Given the description of an element on the screen output the (x, y) to click on. 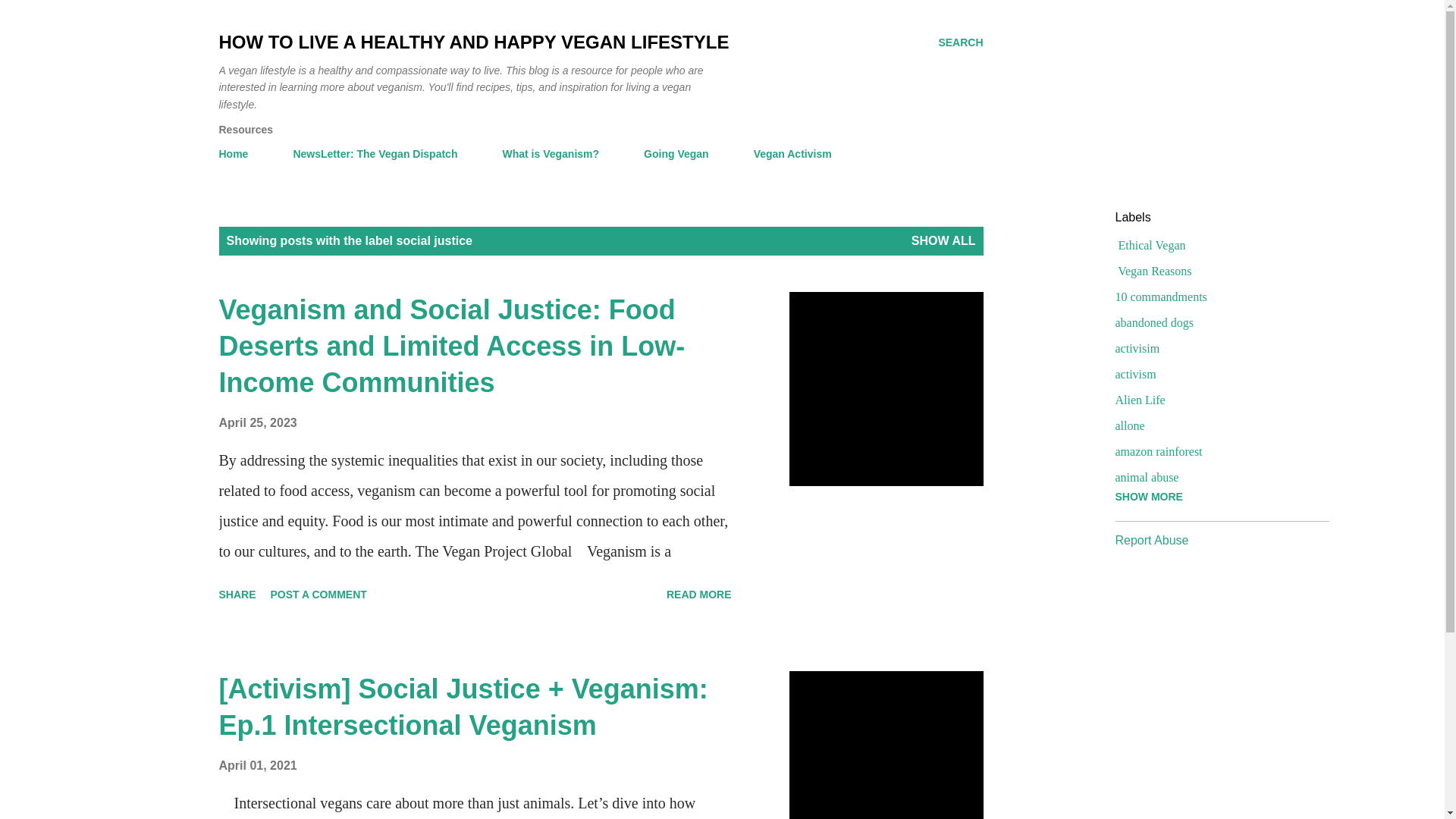
NewsLetter: The Vegan Dispatch (374, 153)
What is Veganism? (550, 153)
Alien Life (1215, 400)
activism (1215, 374)
April 01, 2021 (257, 765)
10 commandments (1215, 296)
READ MORE (699, 594)
abandoned dogs (1215, 323)
SHARE (237, 594)
Ethical Vegan (1215, 245)
Home (237, 153)
Going Vegan (675, 153)
Vegan Reasons (1215, 271)
permanent link (257, 422)
permanent link (257, 765)
